Given the description of an element on the screen output the (x, y) to click on. 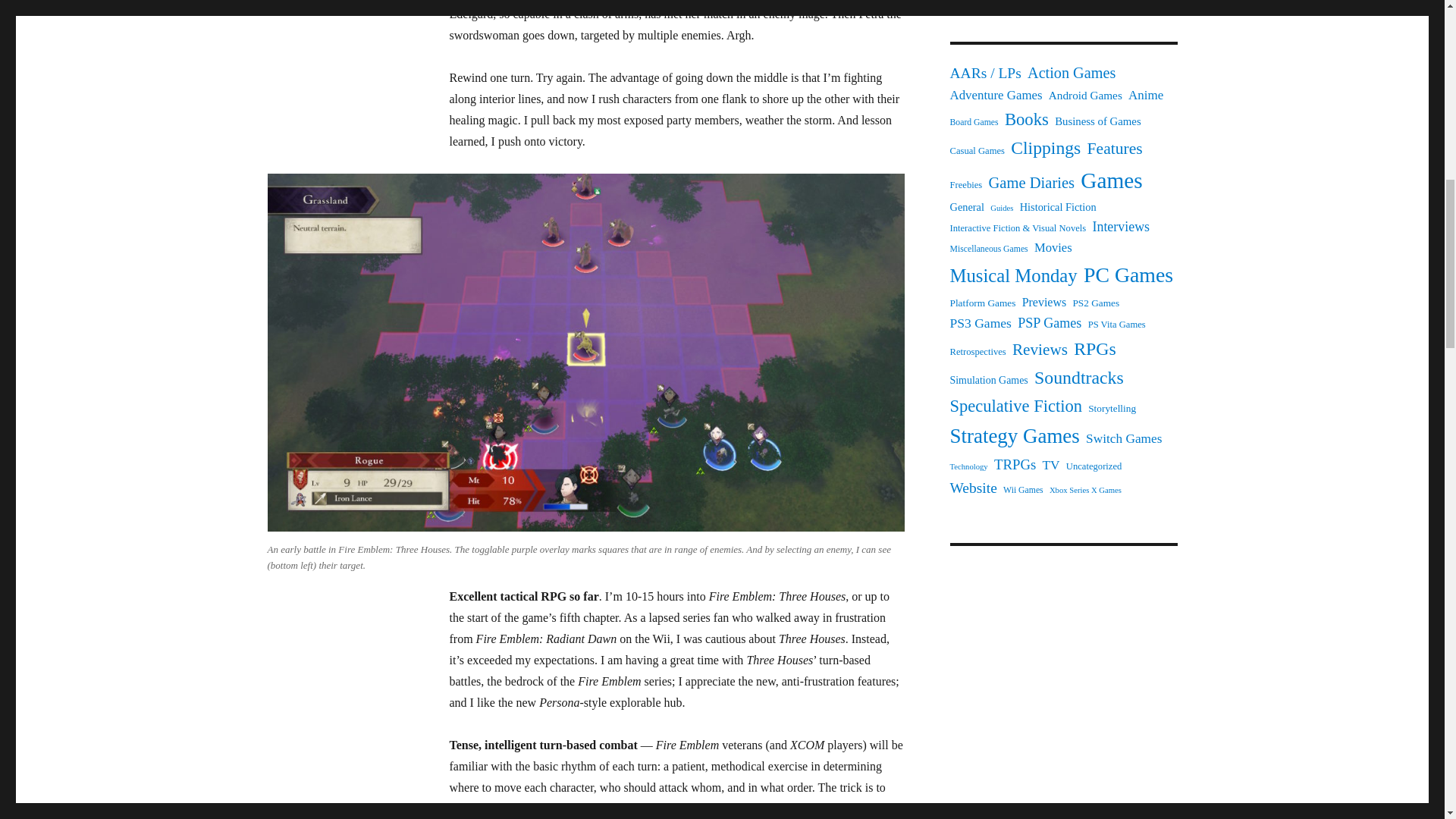
Books (1026, 120)
Android Games (1085, 95)
Action Games (1071, 72)
Business of Games (1097, 122)
Anime (1145, 95)
Board Games (973, 123)
Adventure Games (995, 95)
